Given the description of an element on the screen output the (x, y) to click on. 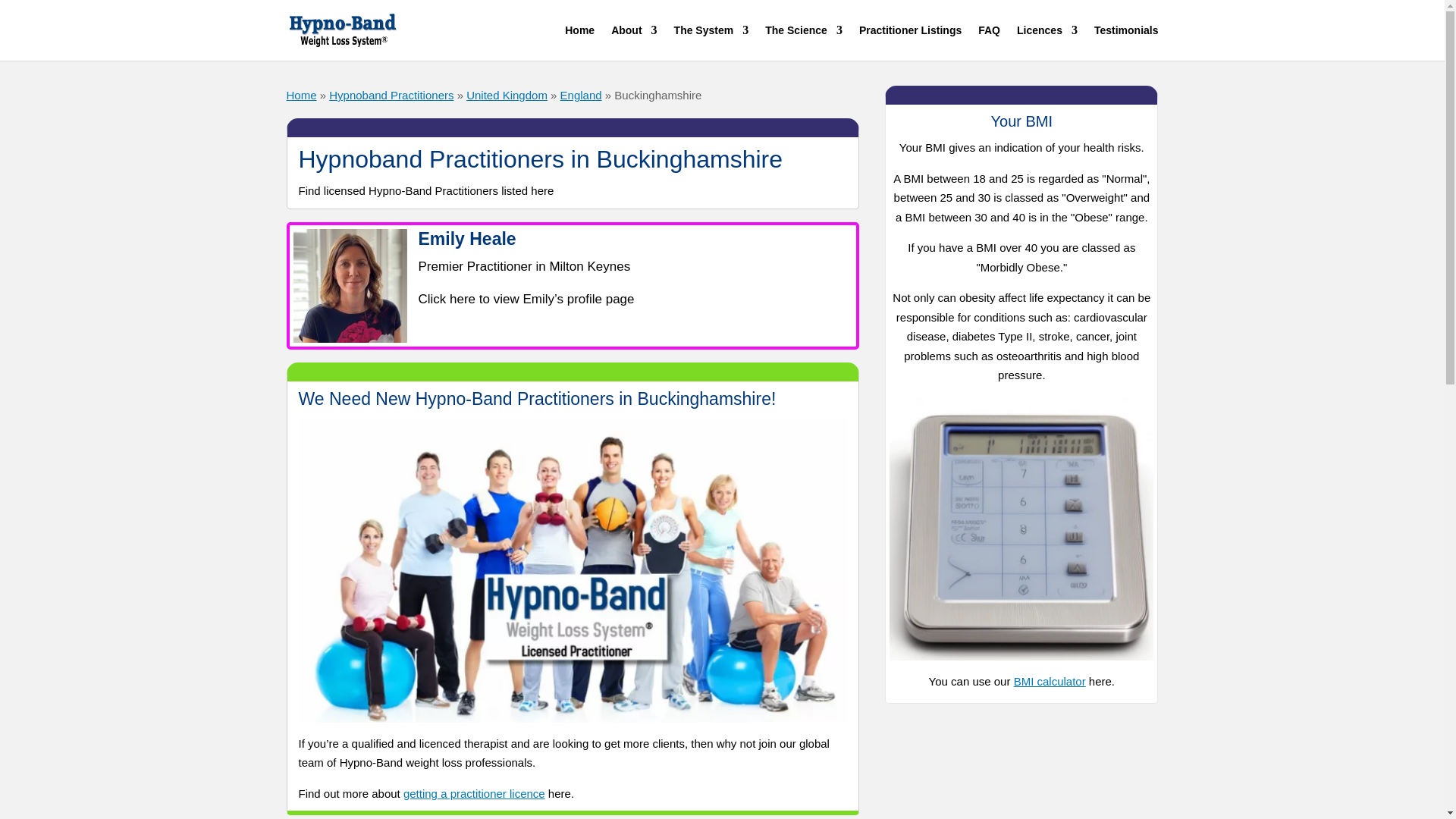
Testimonials (1126, 42)
Practitioner Listings (909, 42)
The Science (804, 42)
Home (301, 94)
Licences (1046, 42)
All about becoming a Hypno-Band Practitioner (1046, 42)
About (633, 42)
The System (711, 42)
